Given the description of an element on the screen output the (x, y) to click on. 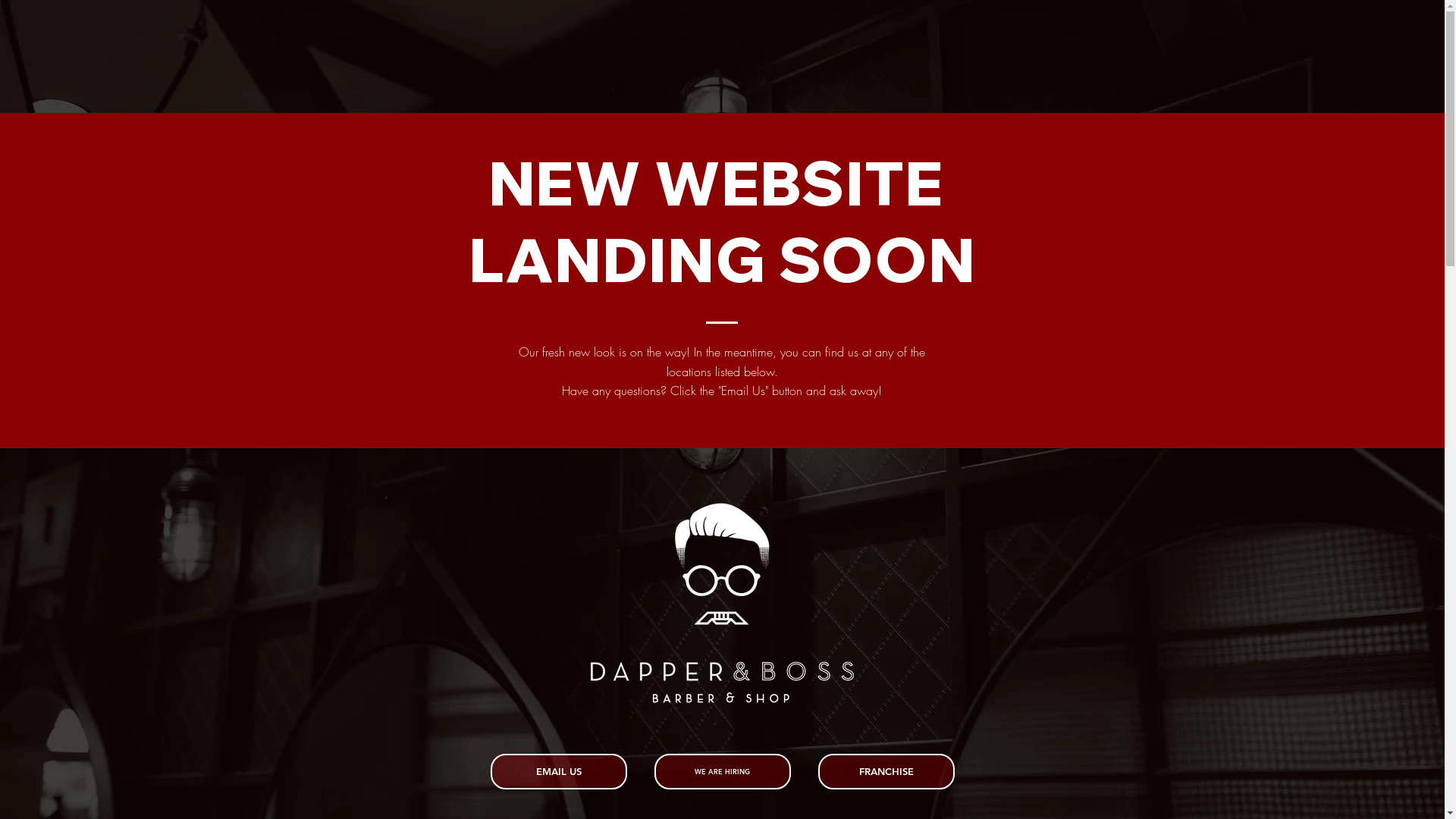
WE ARE HIRING Element type: text (721, 771)
EMAIL US Element type: text (557, 771)
FRANCHISE Element type: text (885, 771)
